Given the description of an element on the screen output the (x, y) to click on. 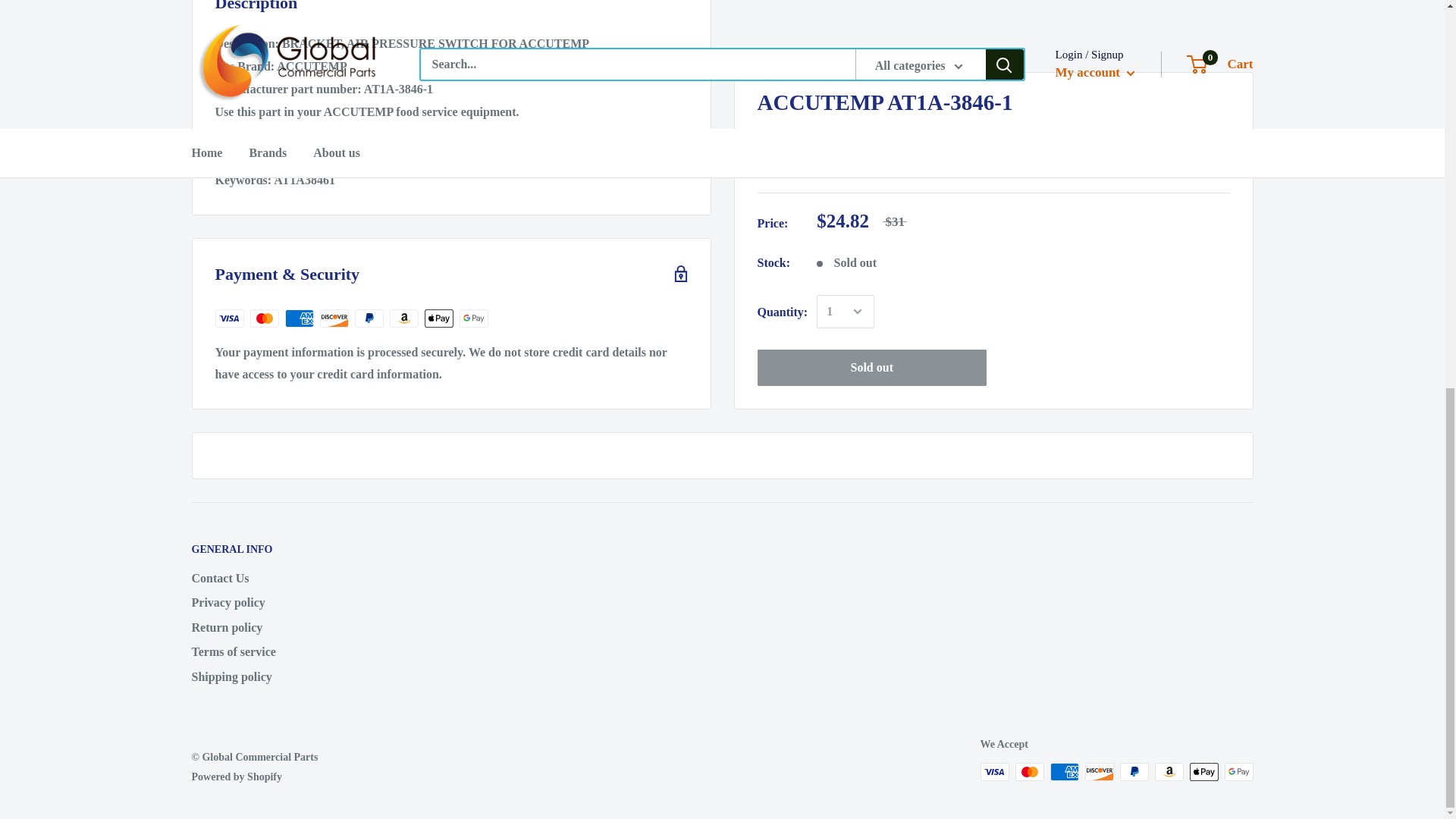
Terms of service (277, 651)
Shipping policy (277, 677)
Privacy policy (277, 602)
GENERAL INFO (277, 549)
Return policy (277, 627)
Contact Us (277, 578)
Term Of Service (545, 156)
Powered by Shopify (236, 776)
